Given the description of an element on the screen output the (x, y) to click on. 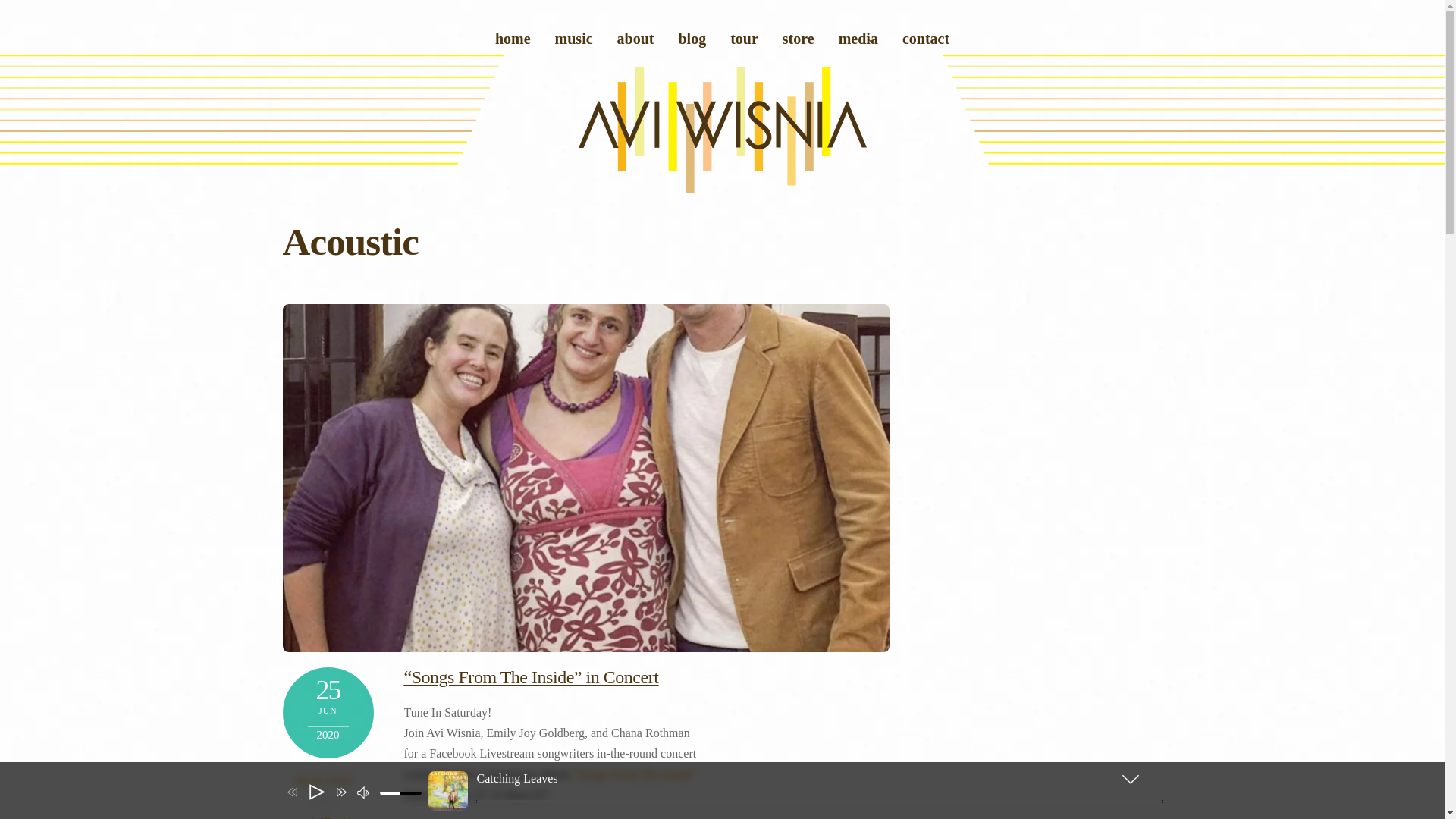
BLOG POST (325, 781)
tour (721, 40)
blog (743, 39)
contact (691, 39)
about (924, 39)
media (635, 39)
Avi Wisnia (858, 39)
Bandcamp (722, 187)
